Given the description of an element on the screen output the (x, y) to click on. 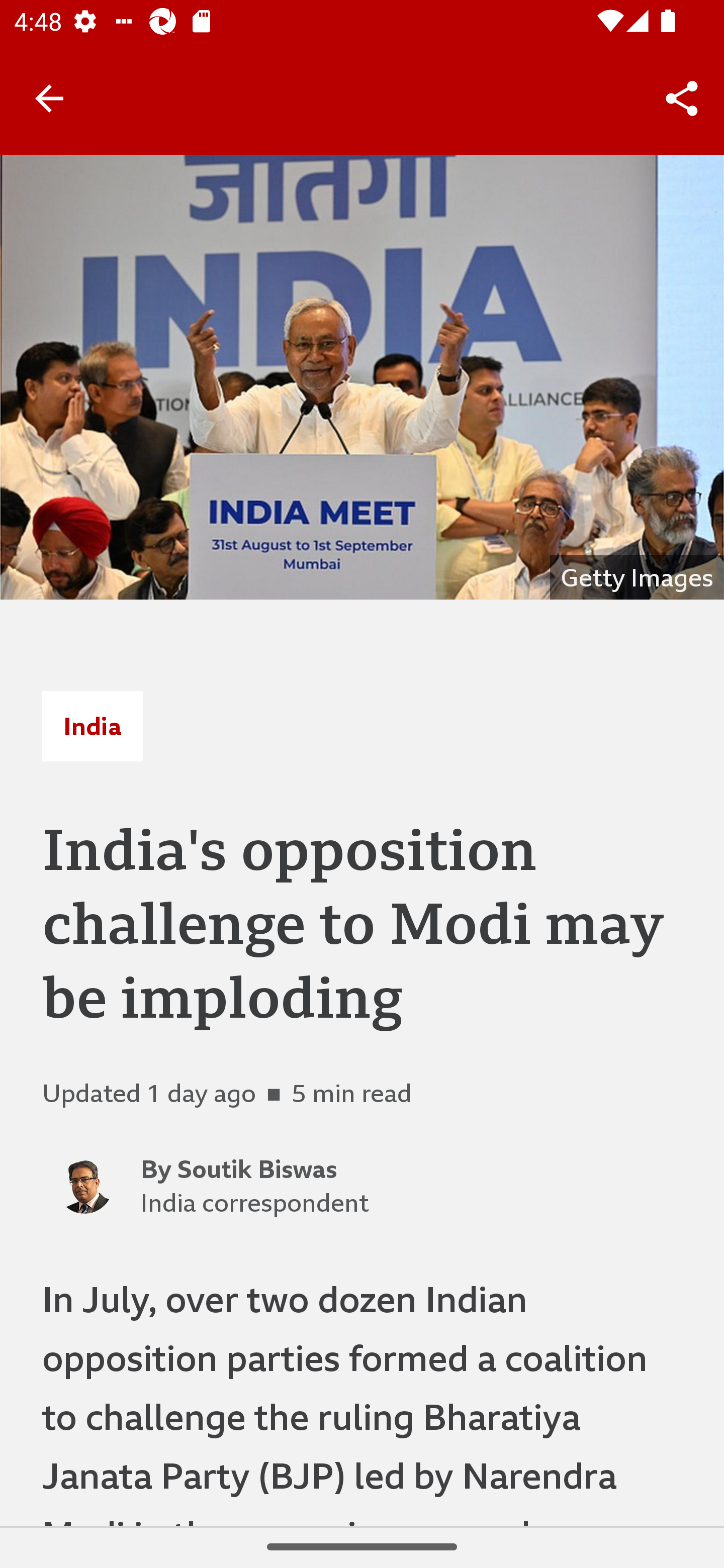
Back (49, 97)
Share (681, 98)
India (91, 725)
